Given the description of an element on the screen output the (x, y) to click on. 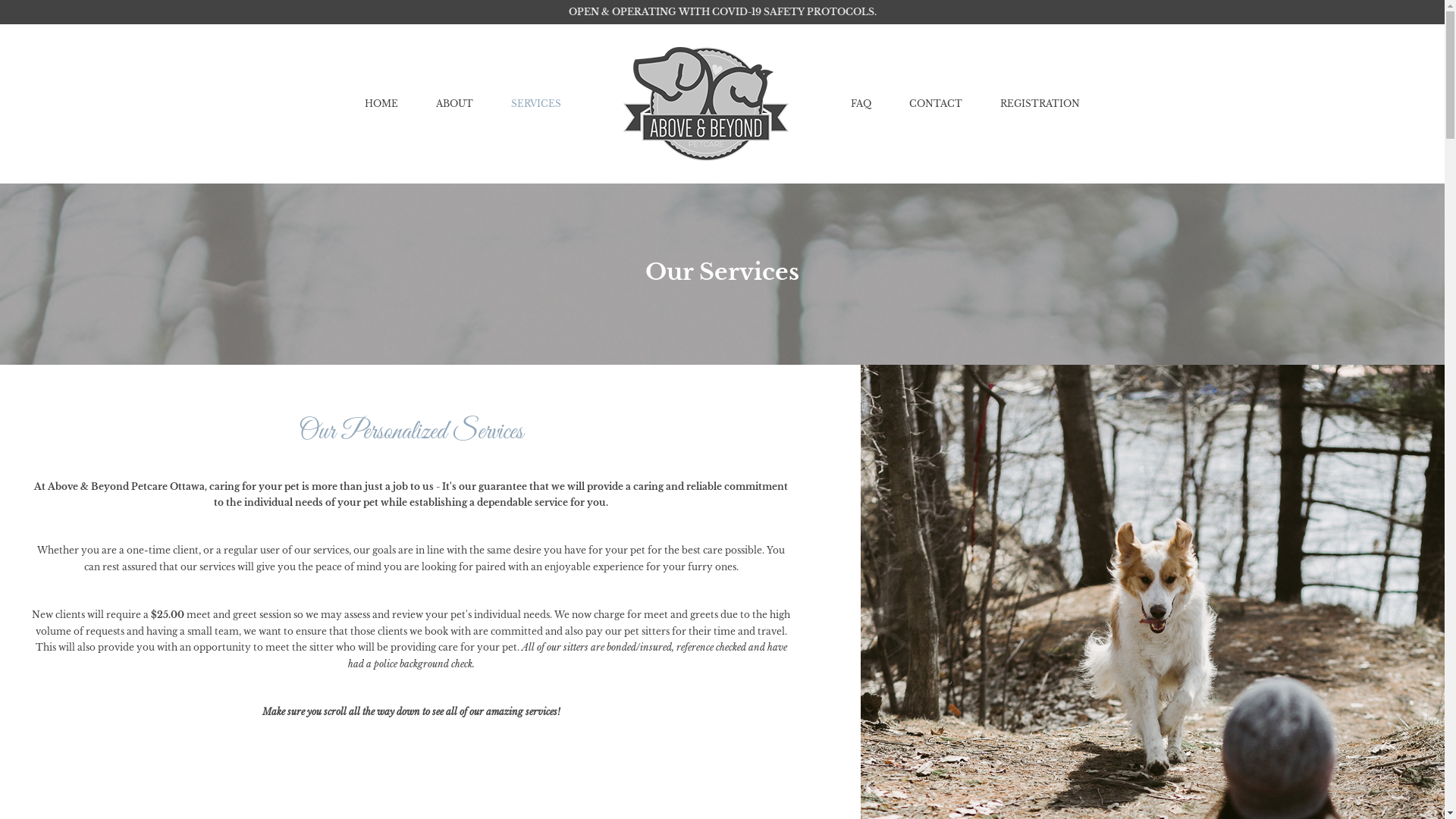
HOME Element type: text (381, 103)
CONTACT Element type: text (935, 103)
ABOUT Element type: text (454, 103)
FAQ Element type: text (860, 103)
SERVICES Element type: text (536, 103)
REGISTRATION Element type: text (1039, 103)
